Given the description of an element on the screen output the (x, y) to click on. 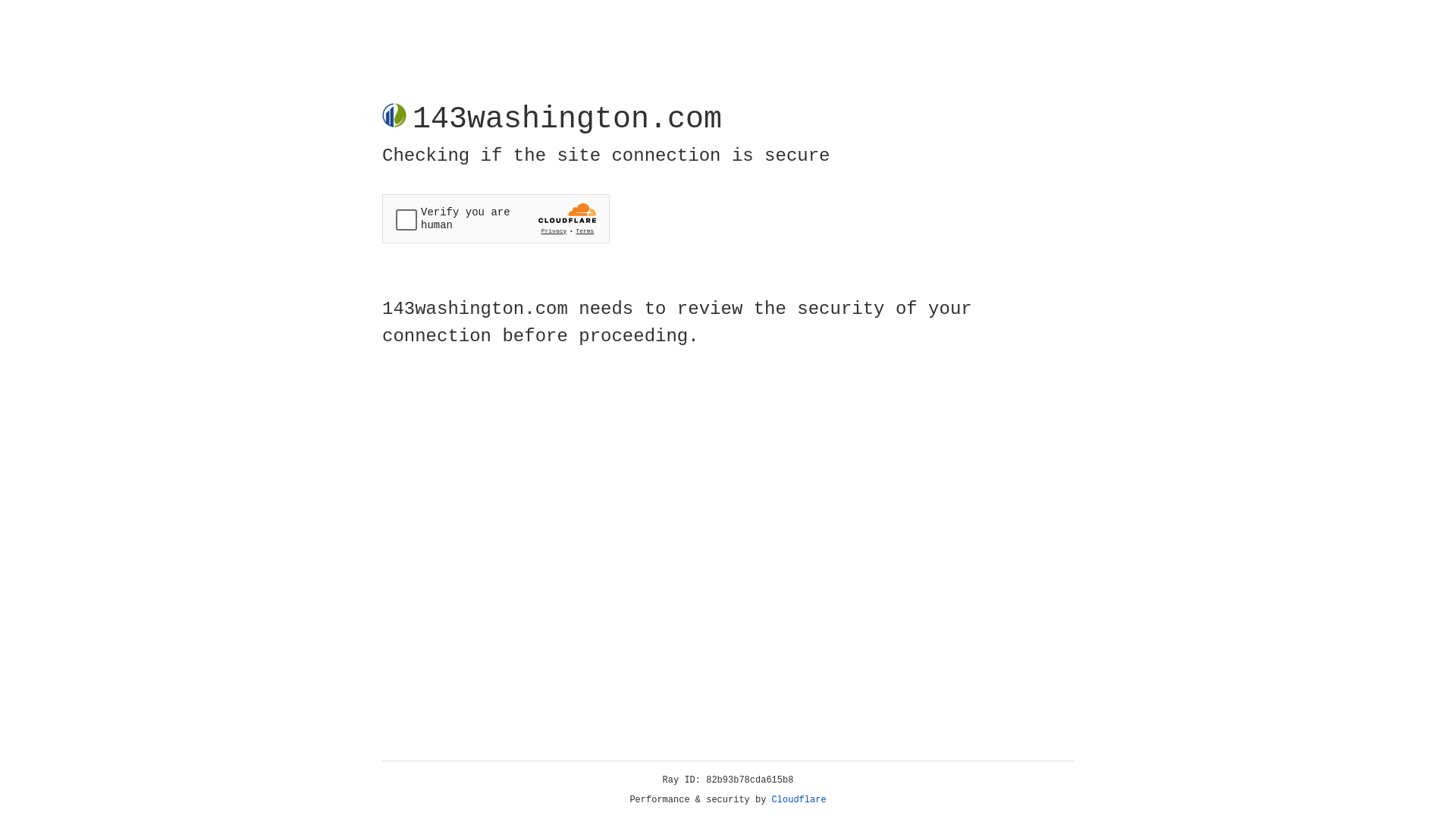
Widget containing a Cloudflare security challenge Element type: hover (495, 218)
Cloudflare Element type: text (798, 799)
